Given the description of an element on the screen output the (x, y) to click on. 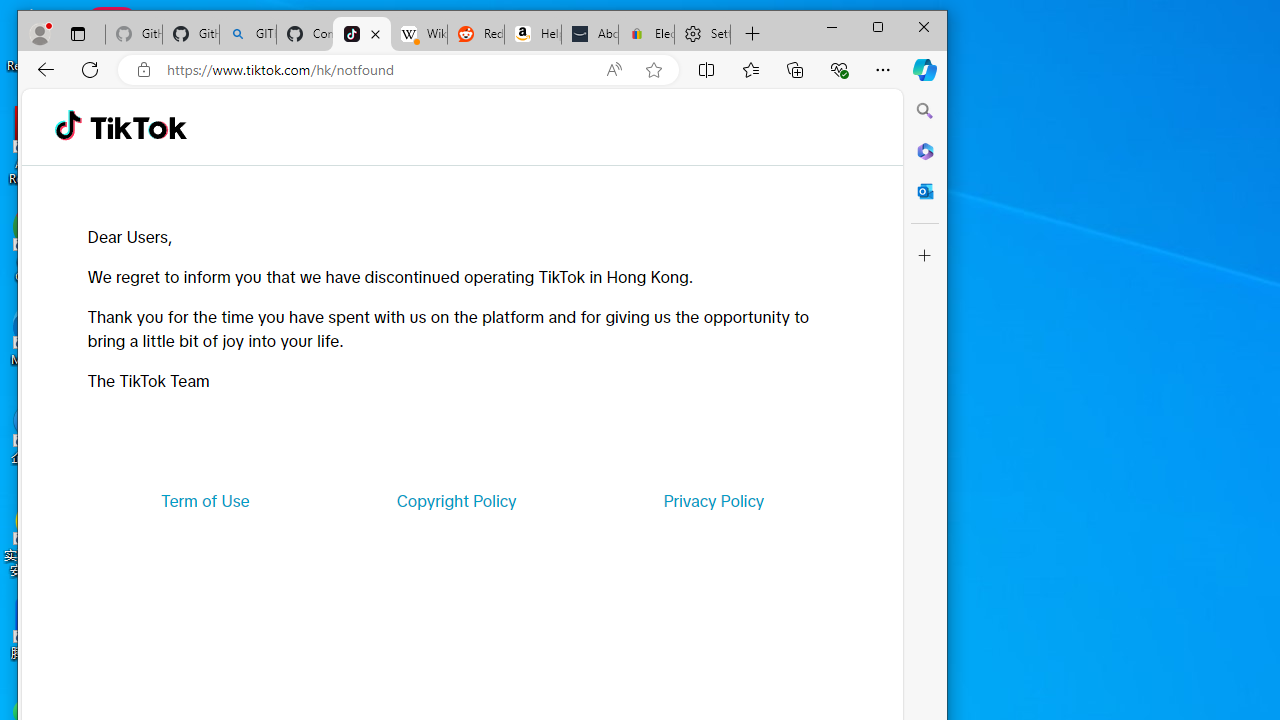
GITHUB - Search (248, 34)
Privacy Policy (713, 500)
Help & Contact Us - Amazon Customer Service (532, 34)
Reddit - Dive into anything (476, 34)
